Given the description of an element on the screen output the (x, y) to click on. 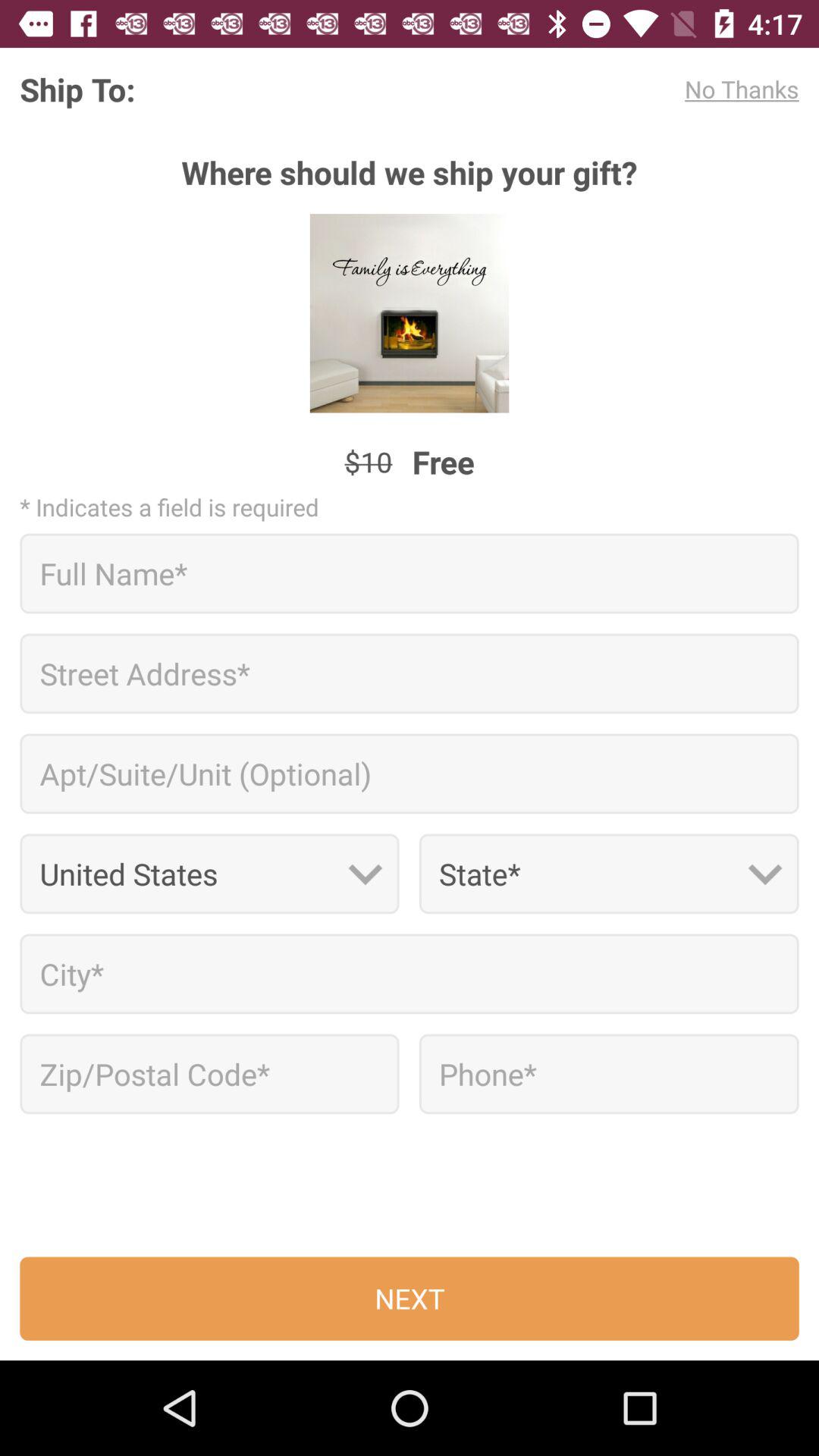
zip code app (209, 1073)
